Given the description of an element on the screen output the (x, y) to click on. 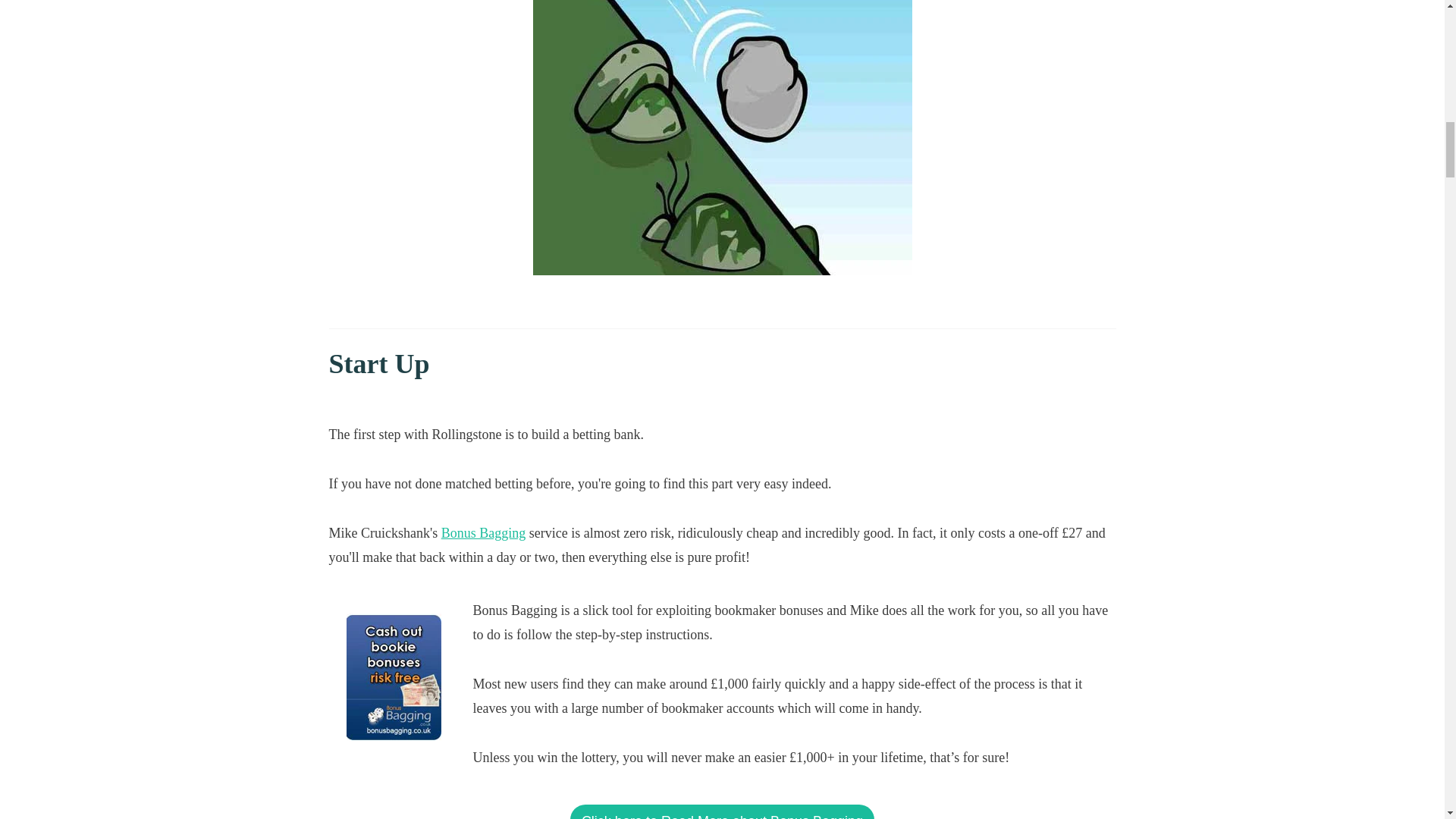
rollingstone-quote-image (721, 137)
Bonus Bagging (483, 532)
Click here to Read More about Bonus Bagging (722, 811)
